Given the description of an element on the screen output the (x, y) to click on. 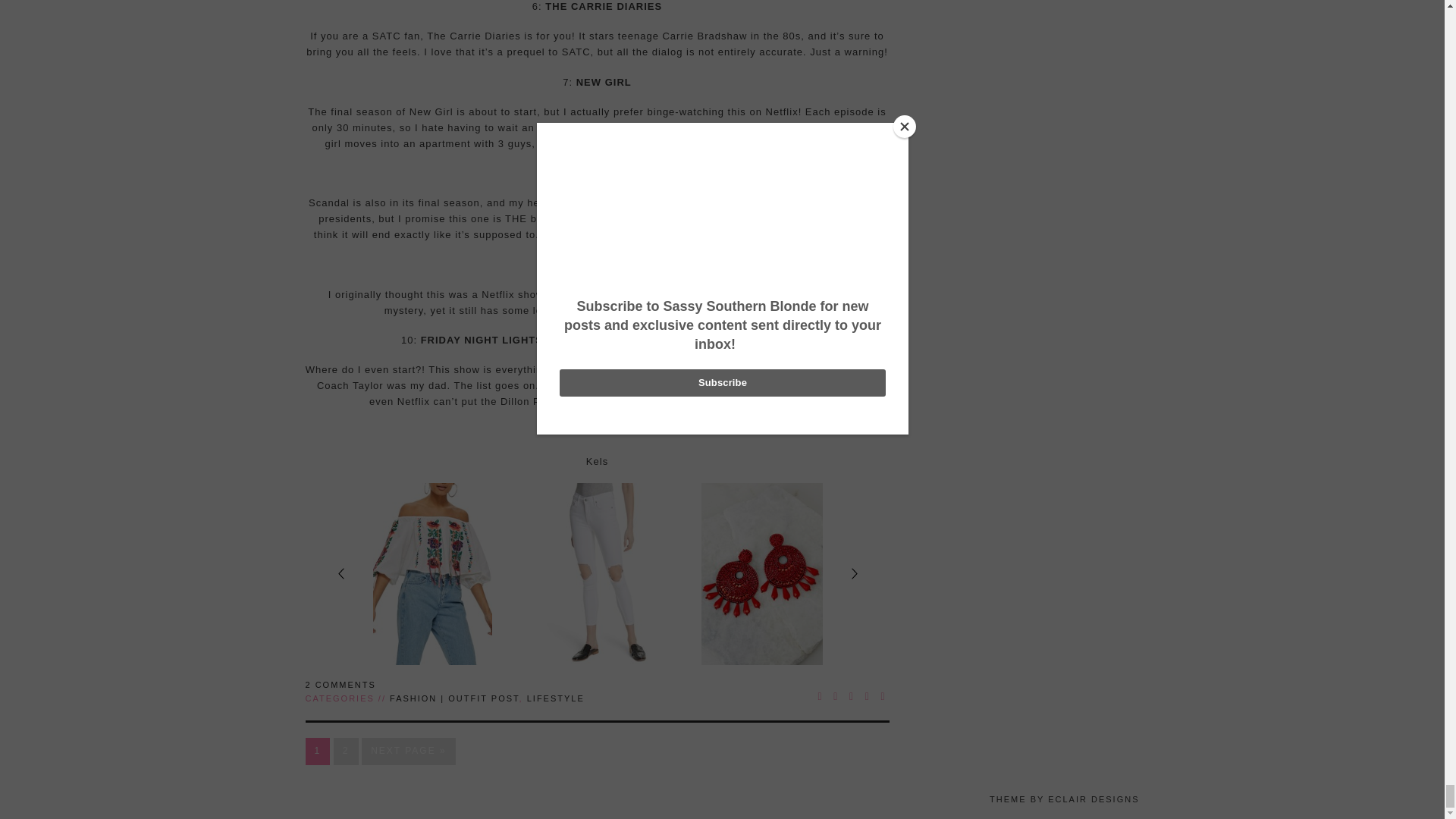
Share this post on Twitter! (835, 696)
